Given the description of an element on the screen output the (x, y) to click on. 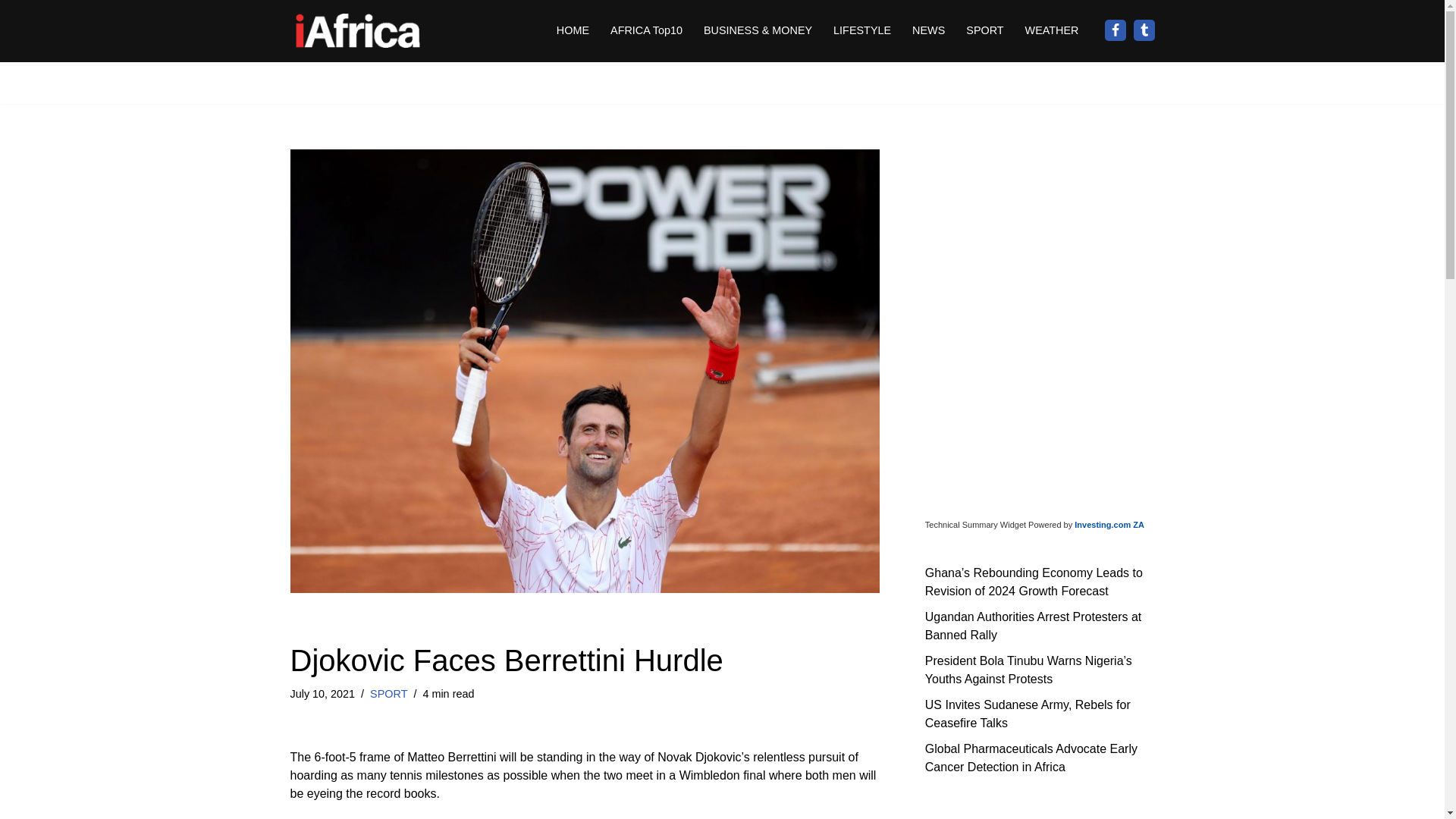
WEATHER (1051, 30)
US Invites Sudanese Army, Rebels for Ceasefire Talks (1027, 712)
SPORT (388, 693)
NEWS (928, 30)
Ugandan Authorities Arrest Protesters at Banned Rally (1032, 624)
SPORT (984, 30)
Investing.com ZA (1109, 524)
HOME (572, 30)
LIFESTYLE (861, 30)
Facebook (1114, 29)
Skip to content (11, 31)
AFRICA Top10 (646, 30)
Twitter (1143, 29)
